Given the description of an element on the screen output the (x, y) to click on. 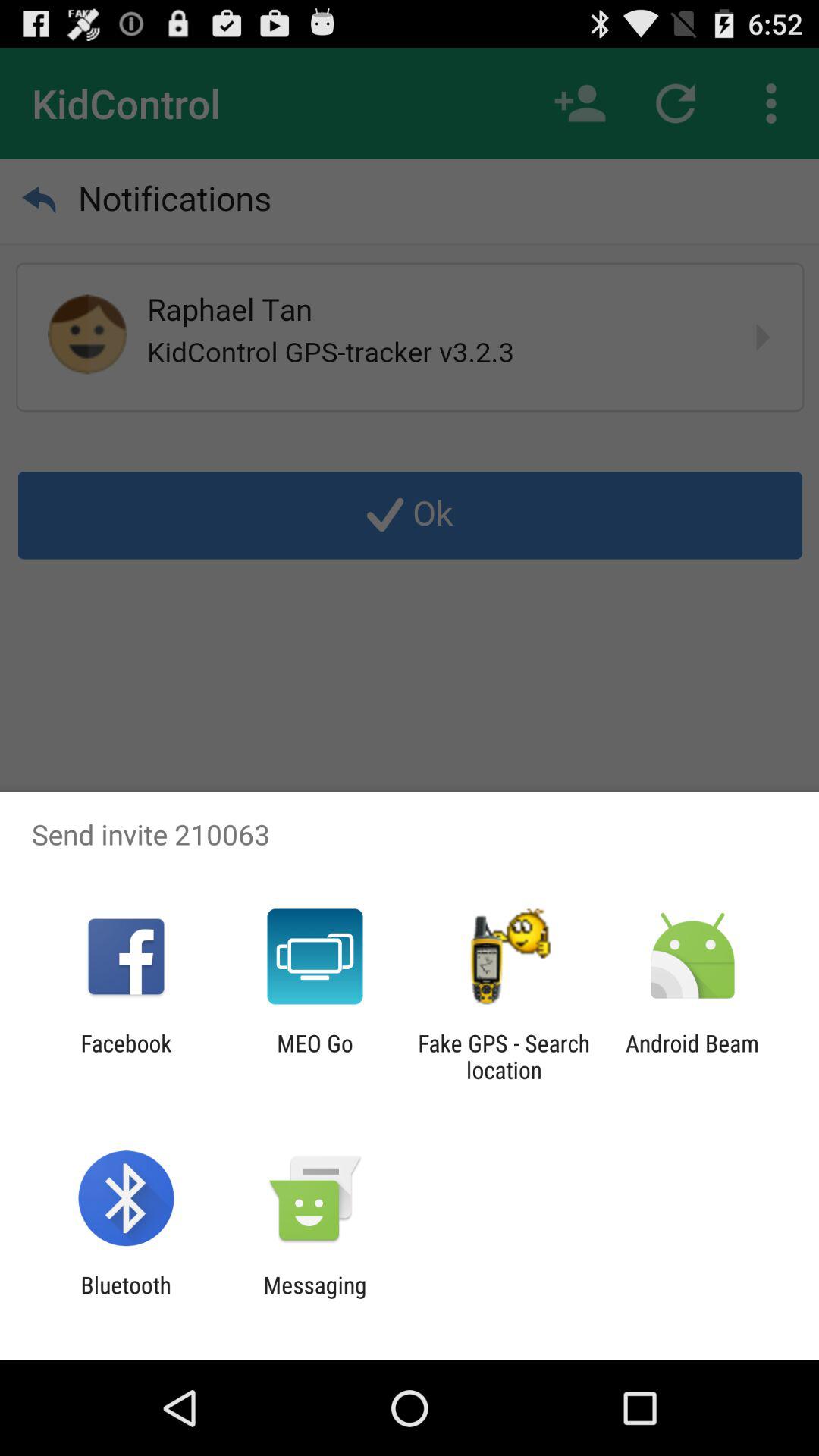
click icon to the right of fake gps search item (692, 1056)
